Given the description of an element on the screen output the (x, y) to click on. 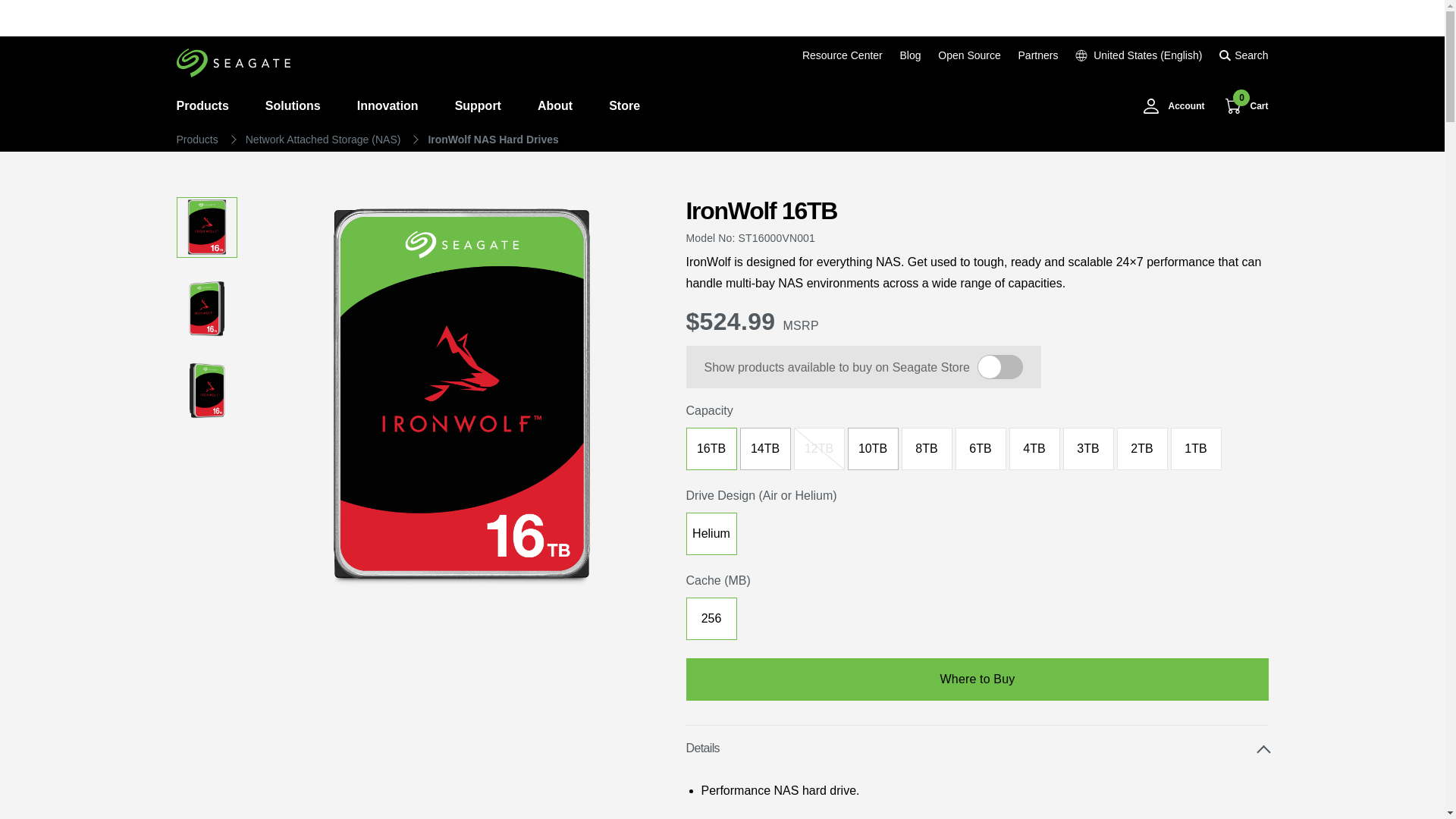
Support (477, 106)
Blog (909, 55)
About (555, 106)
Resource Center (842, 55)
Store (615, 106)
Solutions (293, 106)
Products (211, 106)
Innovation (387, 106)
Open Source (969, 55)
Partners (1037, 55)
